Given the description of an element on the screen output the (x, y) to click on. 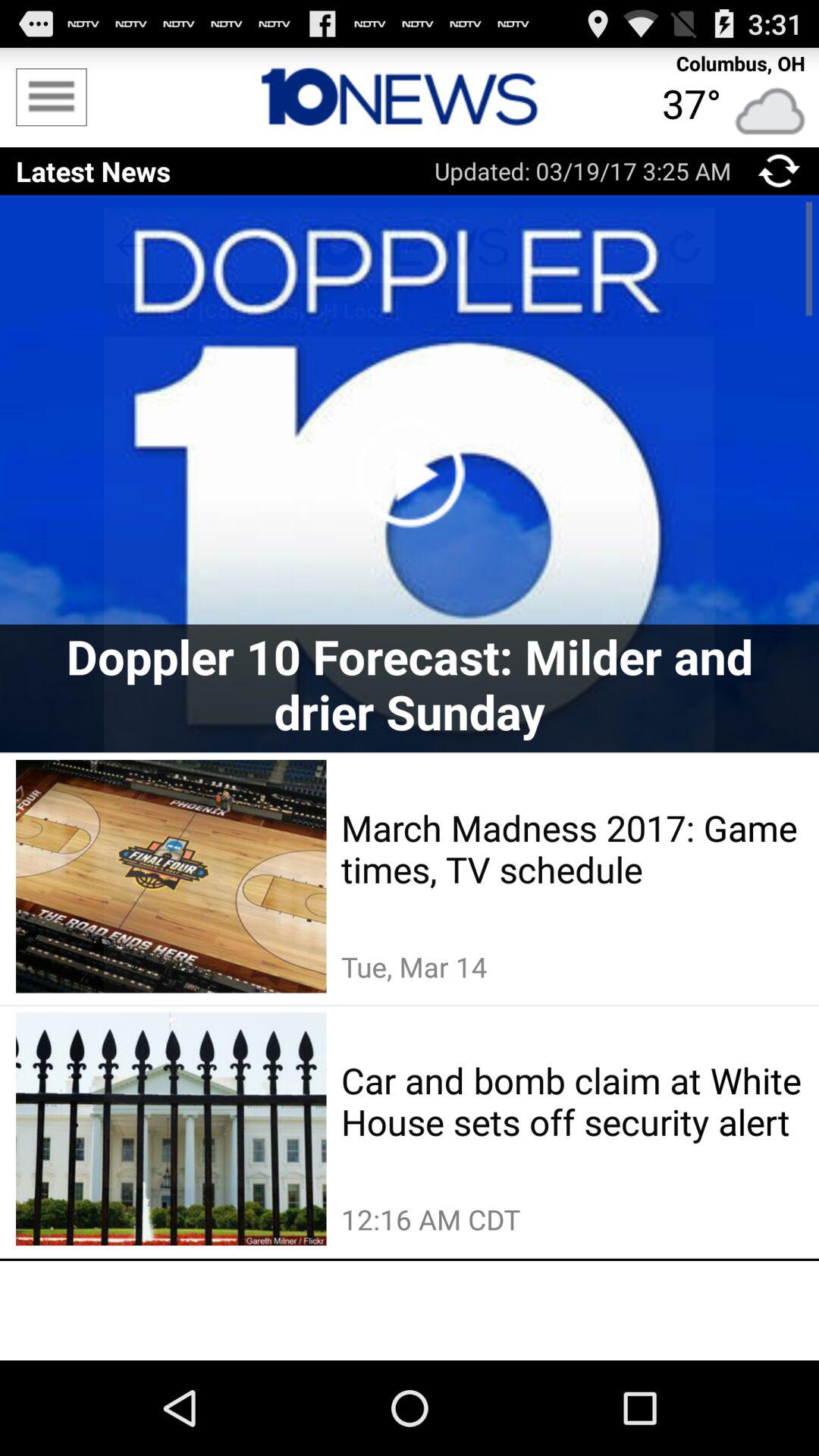
setting (51, 97)
